Given the description of an element on the screen output the (x, y) to click on. 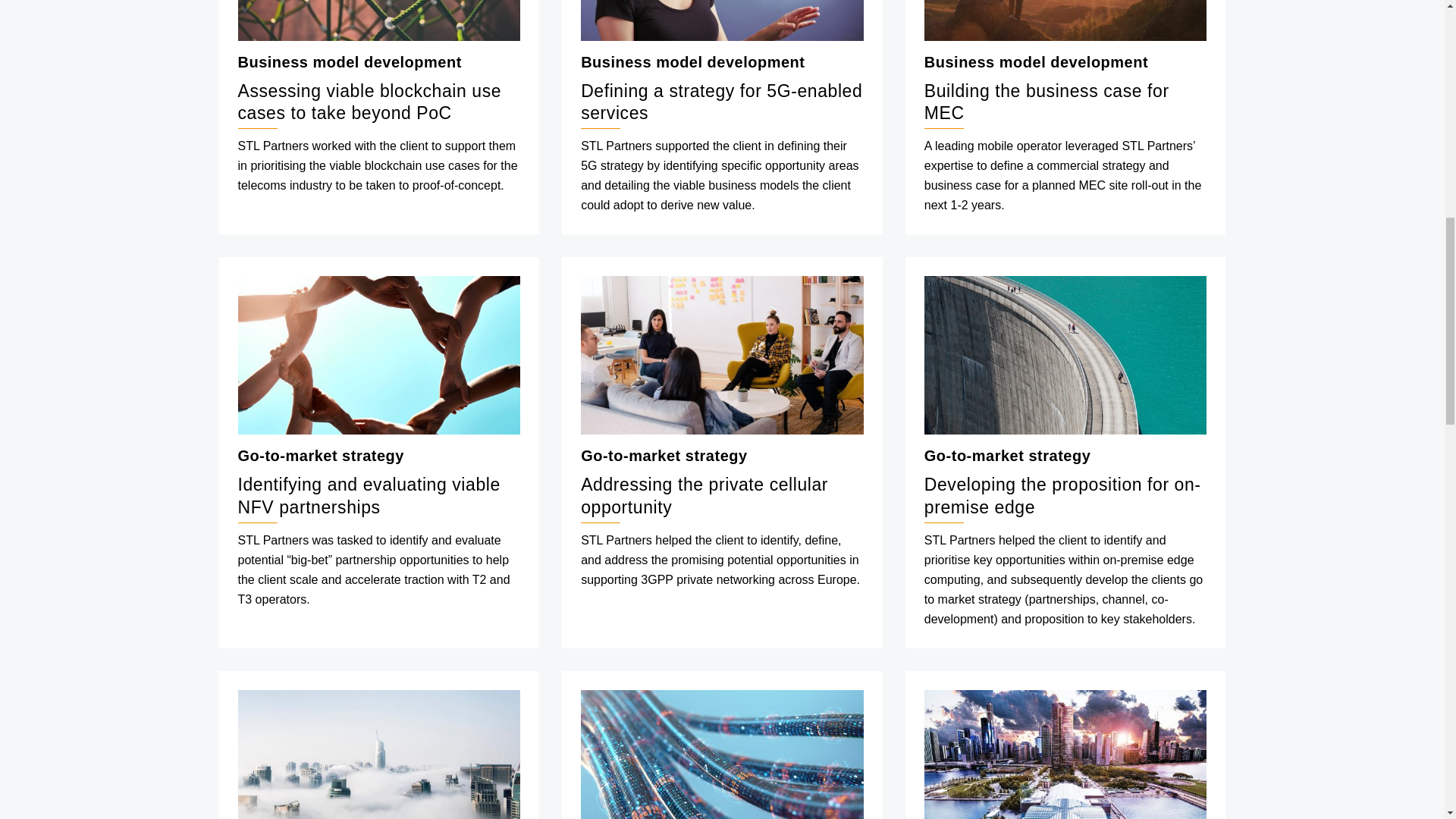
Juniper: understanding how to achieve telco cloud success (379, 754)
Building the business case for MEC (1065, 20)
Defining a strategy for 5G-enabled services (721, 20)
Addressing the private cellular opportunity (721, 355)
Dell Technologies: quantifying ROI for advanced analytics (721, 754)
Identifying and evaluating viable NFV partnerships (379, 355)
Developing the proposition for on-premise edge (1065, 355)
Assessing viable blockchain use cases to take beyond PoC (379, 20)
